Given the description of an element on the screen output the (x, y) to click on. 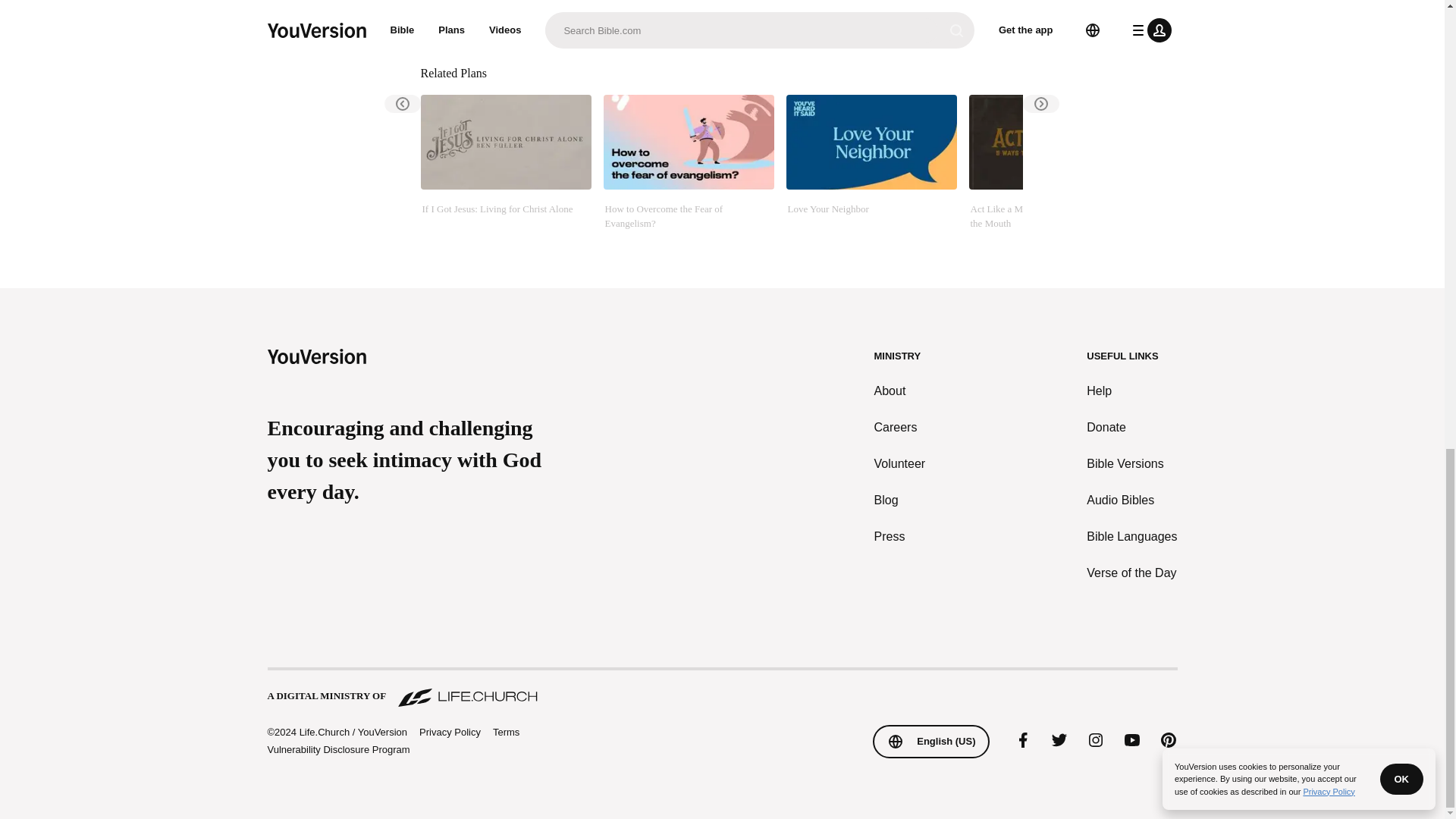
How to Overcome the Fear of Evangelism? (689, 170)
Act Like a Man: 9 Ways to Punch Life in the Mouth (1054, 170)
Careers (900, 427)
If I Got Jesus: Living for Christ Alone (505, 170)
About The Publisher (514, 17)
Terms (506, 731)
Help (1131, 391)
Bible Languages (1131, 536)
Donate (1131, 427)
Bible Versions (1131, 464)
Verse of the Day (1131, 573)
About (900, 391)
Audio Bibles (1131, 500)
Love Your Neighbor (871, 170)
Volunteer (900, 464)
